Given the description of an element on the screen output the (x, y) to click on. 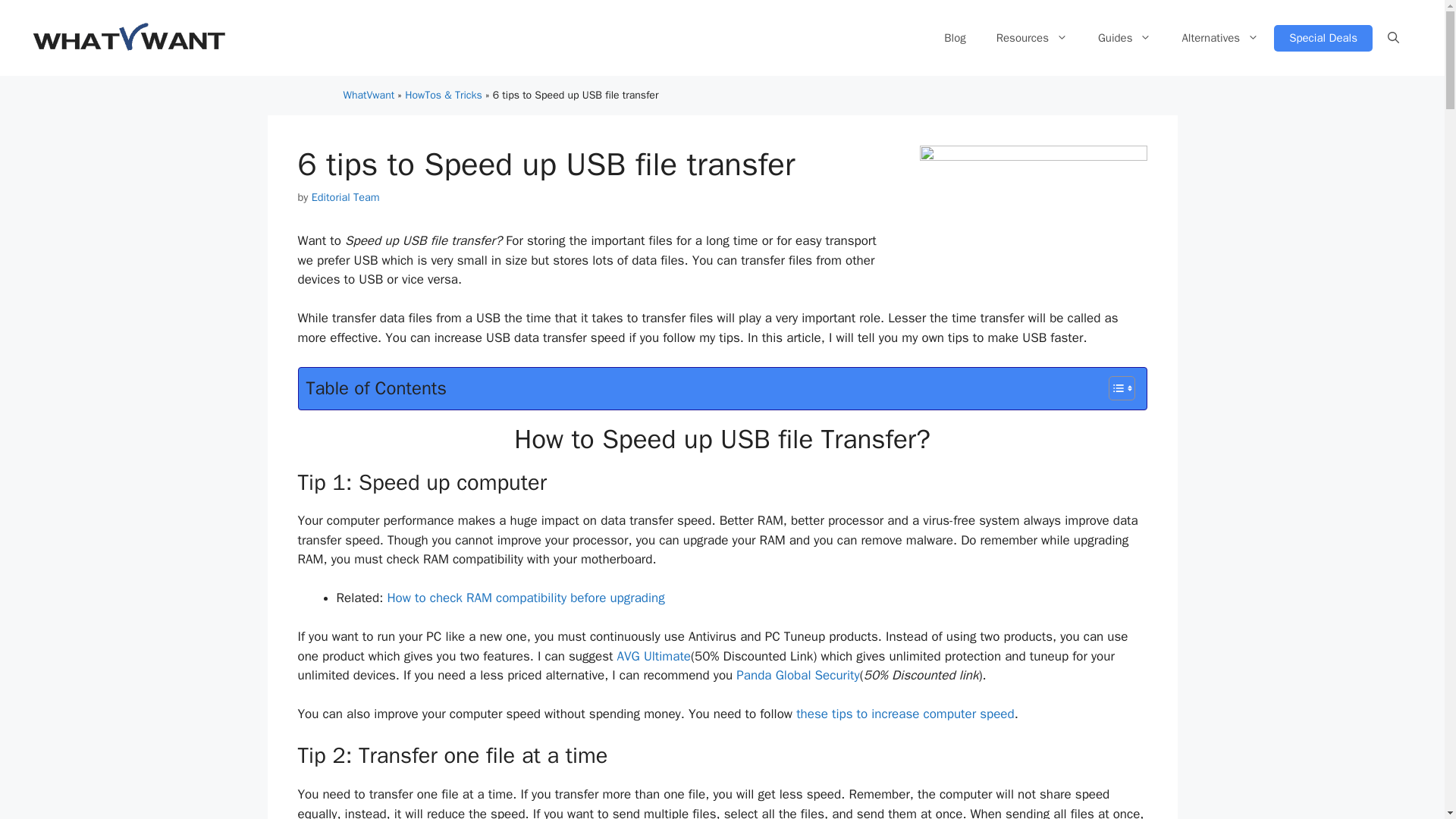
Alternatives (1220, 37)
Resources (1032, 37)
Blog (953, 37)
Guides (1125, 37)
Special Deals (1323, 37)
View all posts by Editorial Team (345, 196)
